Given the description of an element on the screen output the (x, y) to click on. 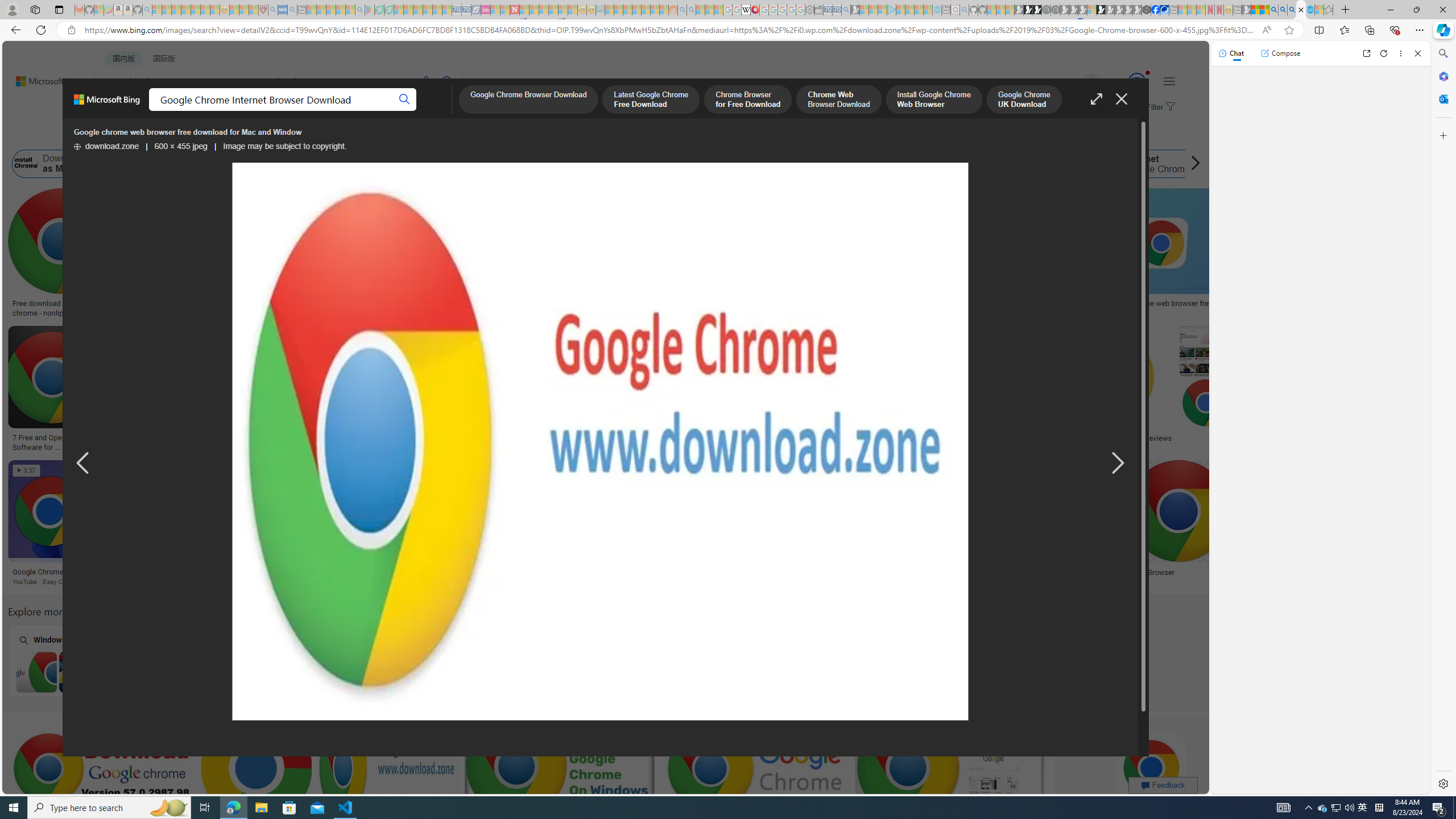
Chrome Browser Download Windows 10 Windows 10 (515, 660)
Download Chrome Browser in Internet Explorer (224, 671)
Microsoft Bing, Back to Bing search (106, 104)
Google chrome web browser free download for Mac and Window (1192, 307)
Chrome BrowserSave (1206, 524)
